Given the description of an element on the screen output the (x, y) to click on. 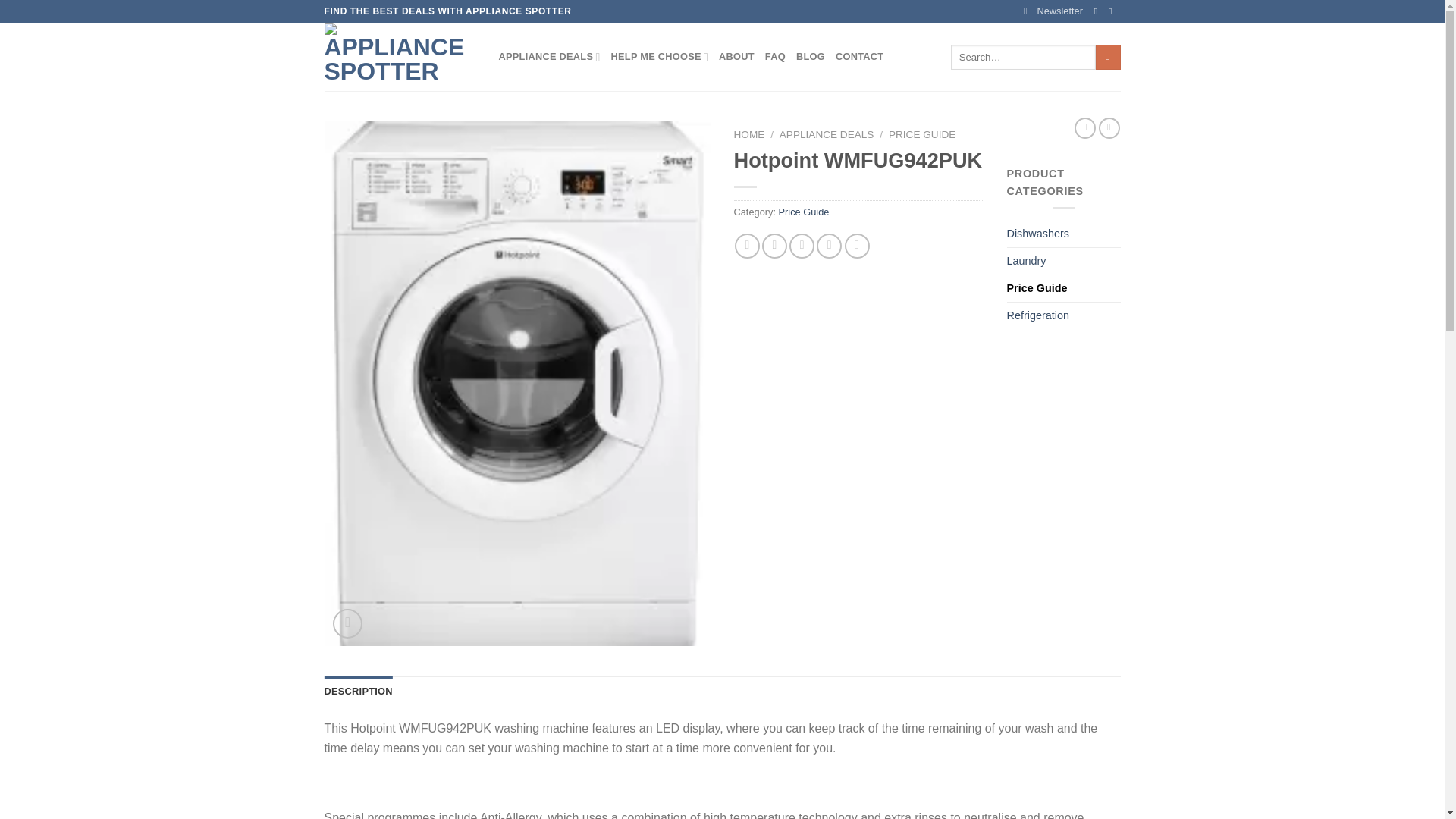
APPLIANCE DEALS (826, 134)
Appliance Spotter (400, 56)
Email to a Friend (801, 245)
Newsletter (1053, 11)
HOME (749, 134)
ABOUT (736, 56)
PRICE GUIDE (921, 134)
Search (1108, 57)
HELP ME CHOOSE (660, 56)
APPLIANCE DEALS (549, 56)
